Given the description of an element on the screen output the (x, y) to click on. 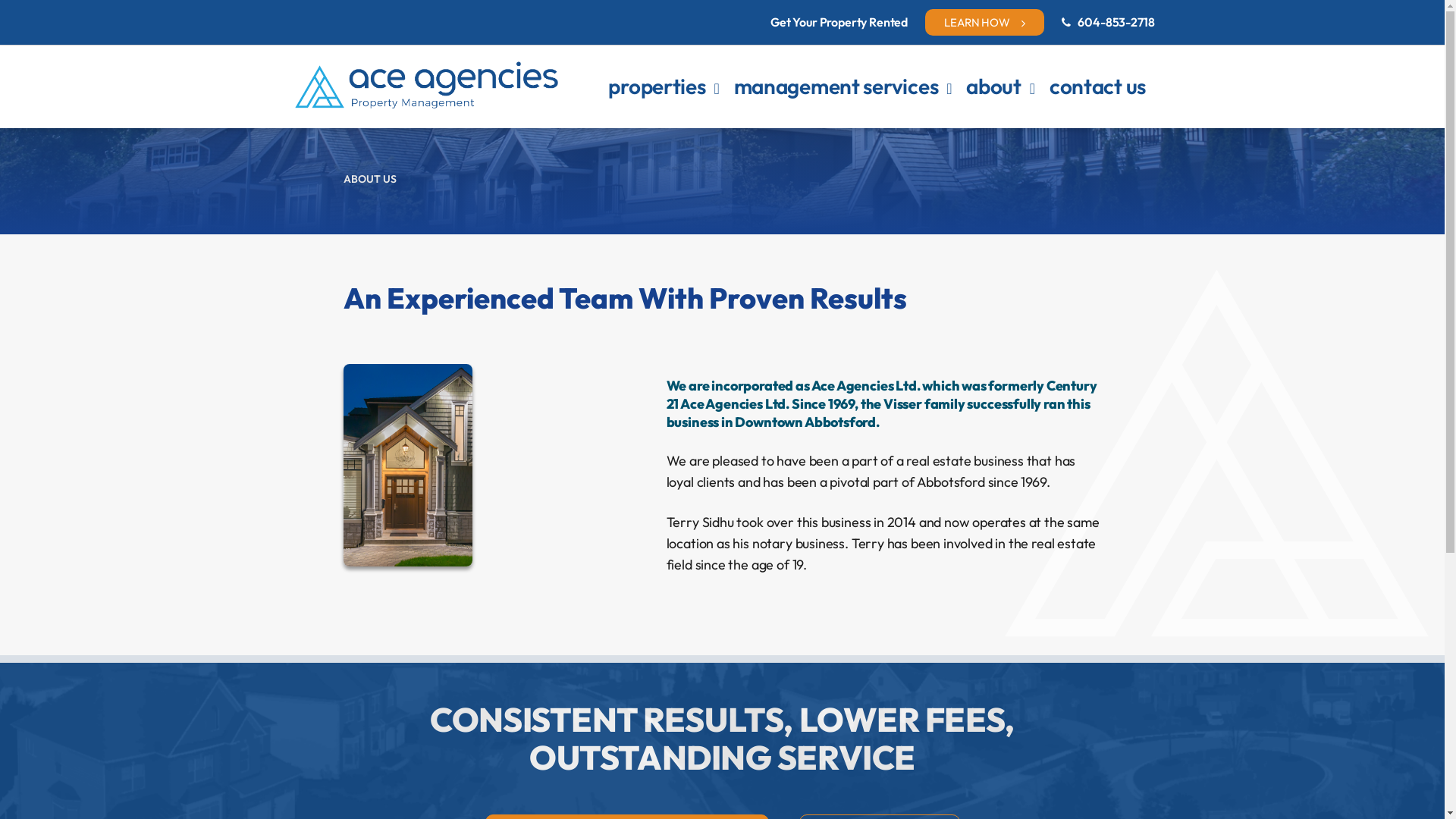
application Element type: text (657, 121)
about us Element type: text (1006, 121)
about Element type: text (993, 87)
resources Element type: text (1009, 121)
tenant evictions Element type: text (798, 121)
news / blog Element type: text (1014, 121)
rental management Element type: text (811, 121)
rental listings Element type: text (664, 121)
management services Element type: text (836, 87)
contact us Element type: text (1097, 87)
tenant management Element type: text (814, 121)
LEARN HOW Element type: text (984, 22)
604-853-2718 Element type: text (1115, 21)
properties Element type: text (656, 87)
